Given the description of an element on the screen output the (x, y) to click on. 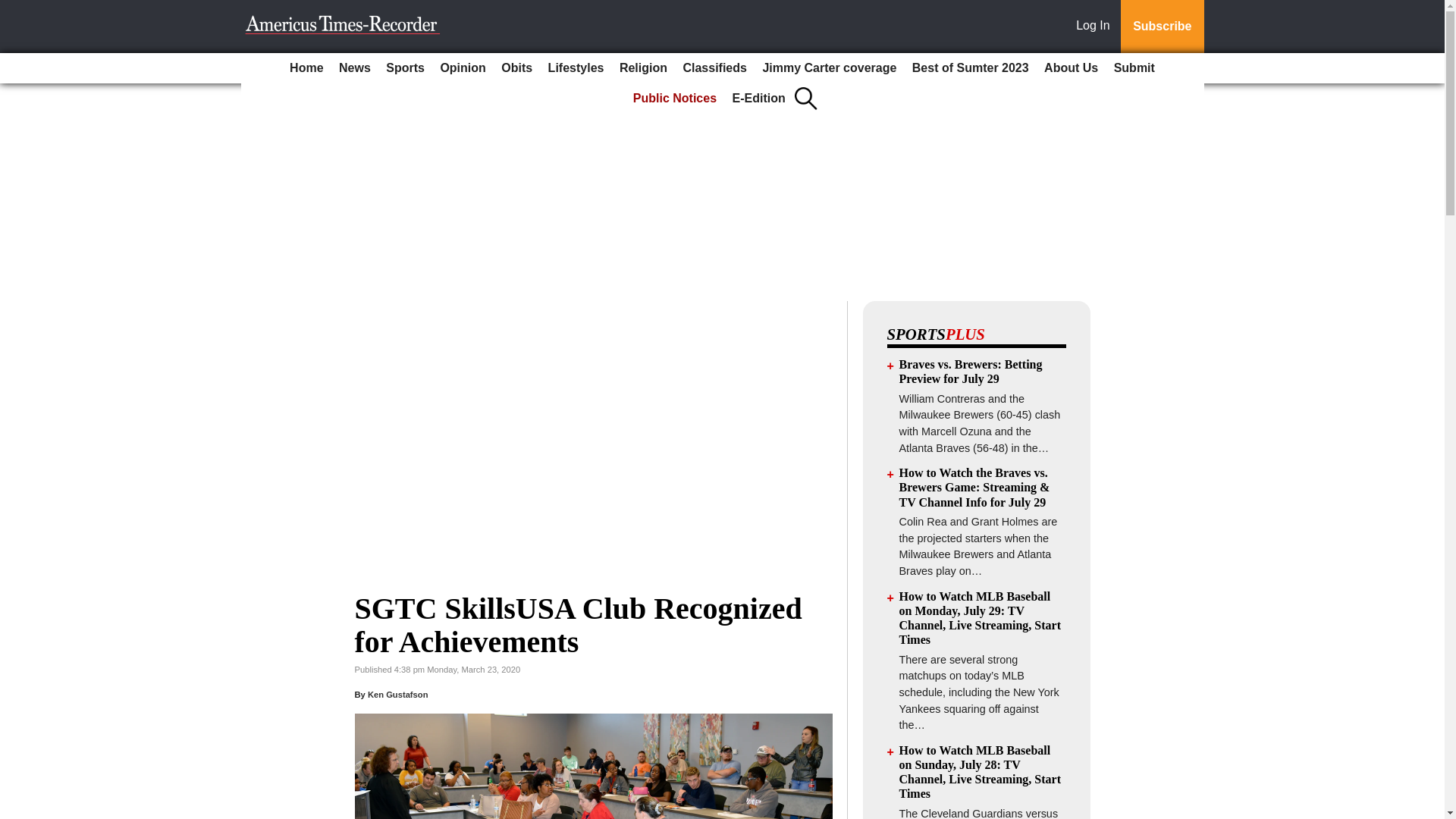
Opinion (462, 68)
Submit (1134, 68)
E-Edition (759, 98)
Obits (516, 68)
About Us (1070, 68)
Public Notices (674, 98)
Subscribe (1162, 26)
Jimmy Carter coverage (828, 68)
Religion (642, 68)
Ken Gustafson (398, 694)
Sports (405, 68)
Log In (1095, 26)
News (355, 68)
Braves vs. Brewers: Betting Preview for July 29 (970, 370)
